Given the description of an element on the screen output the (x, y) to click on. 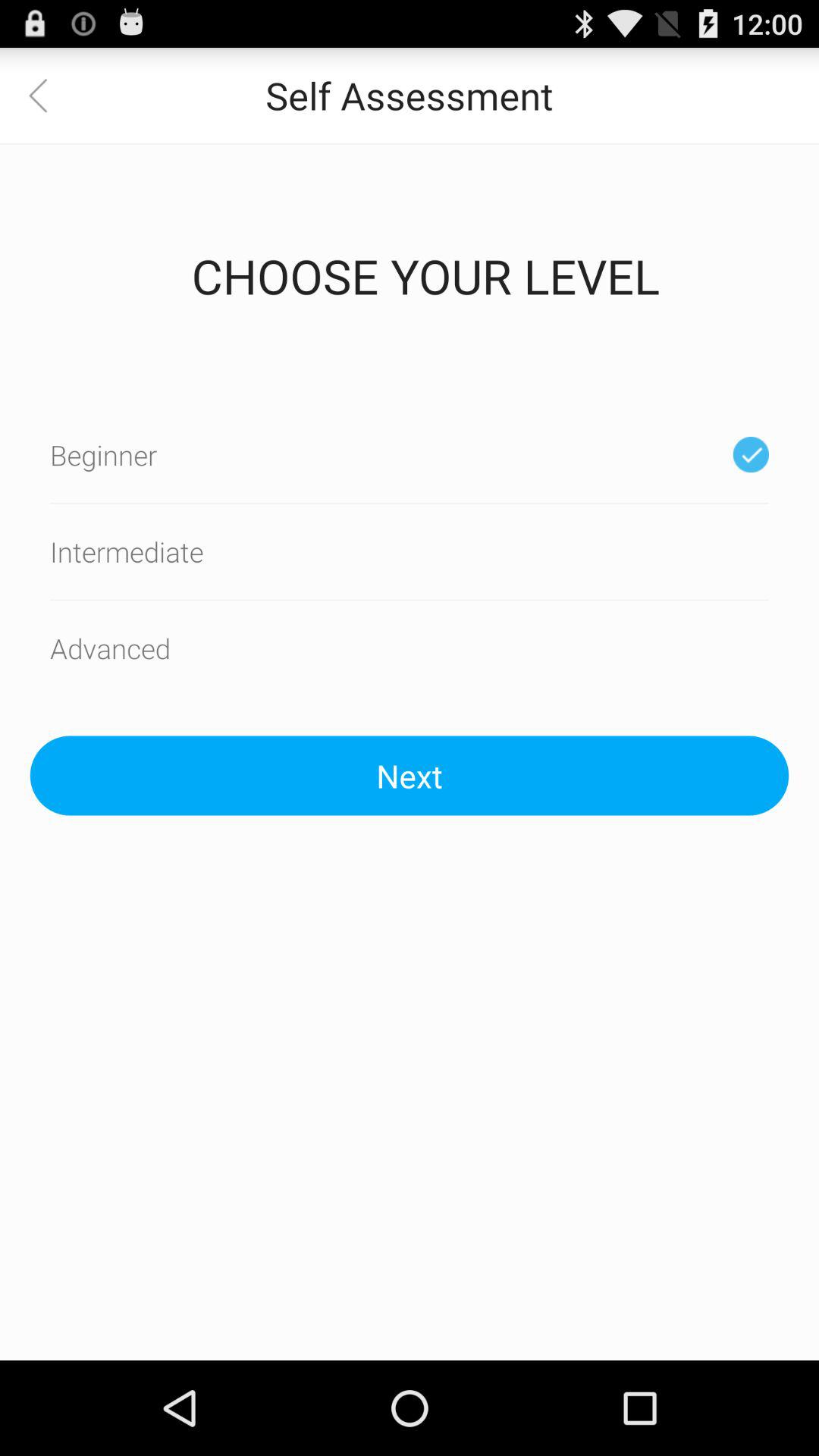
press the next icon (409, 775)
